Given the description of an element on the screen output the (x, y) to click on. 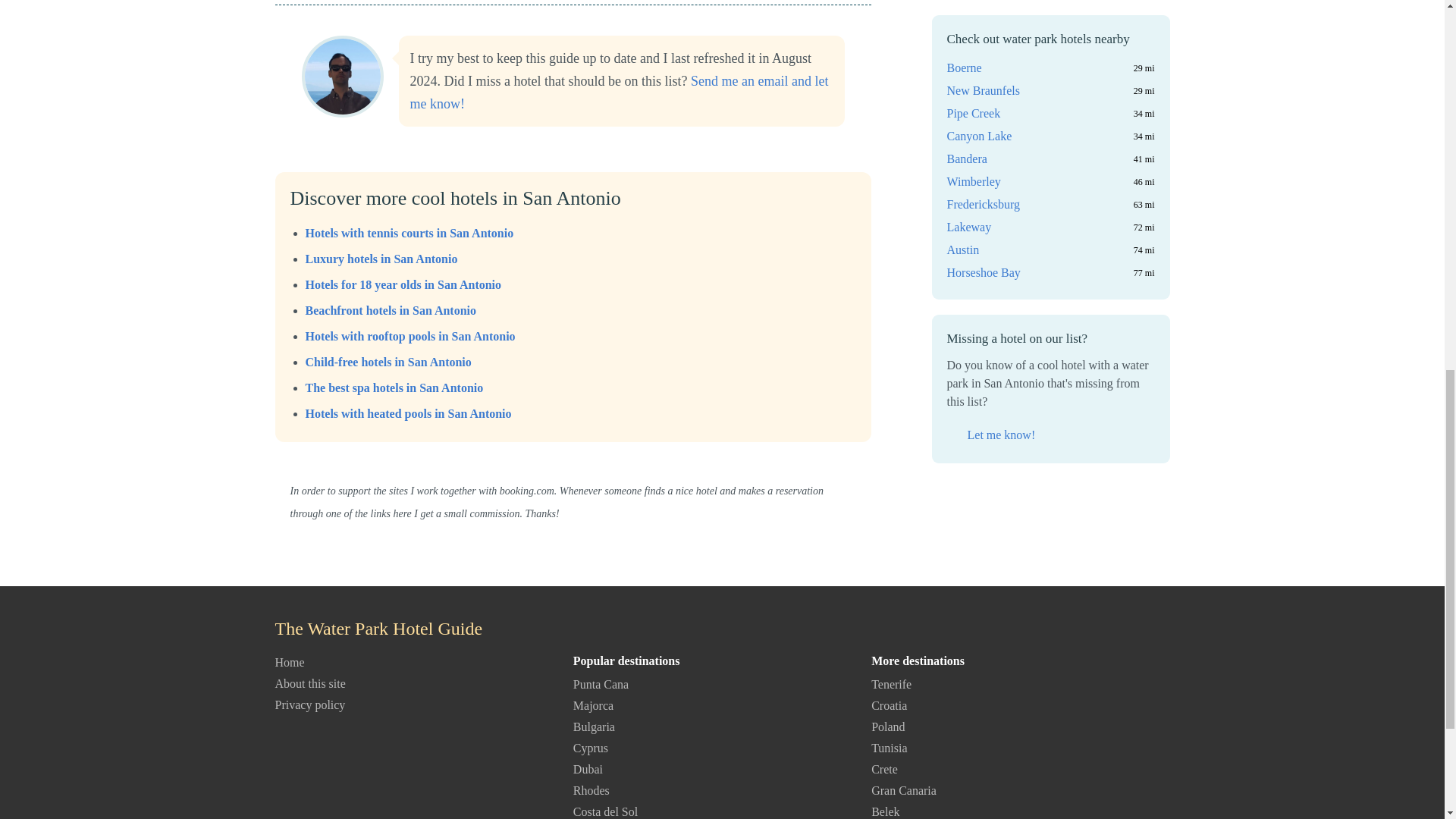
Horseshoe Bay (983, 104)
Lakeway (968, 58)
About this site (310, 683)
Home (289, 662)
Bulgaria (593, 726)
Majorca (592, 705)
Hotels for 18 year olds in San Antonio (402, 284)
Privacy policy (310, 704)
Hotels with rooftop pools in San Antonio (409, 336)
Luxury hotels in San Antonio (380, 258)
